Given the description of an element on the screen output the (x, y) to click on. 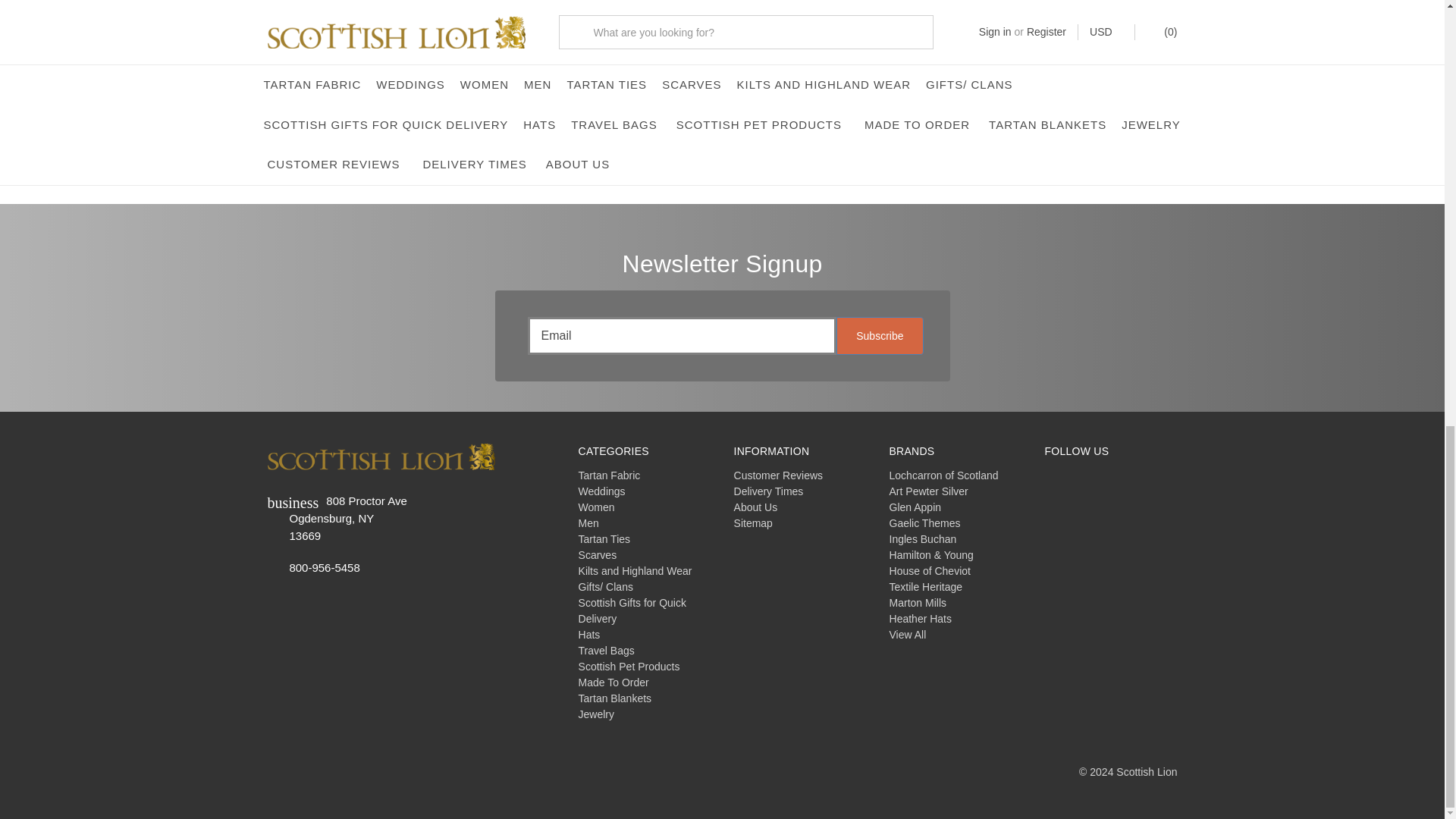
Scottish Lion (380, 456)
Argyll Tweed Jacket and Vest Charcoal (606, 33)
FARQUHARSON Clan Kilt Pin (1069, 33)
APCLHT Harris Tweed Cufflinks (837, 33)
